Given the description of an element on the screen output the (x, y) to click on. 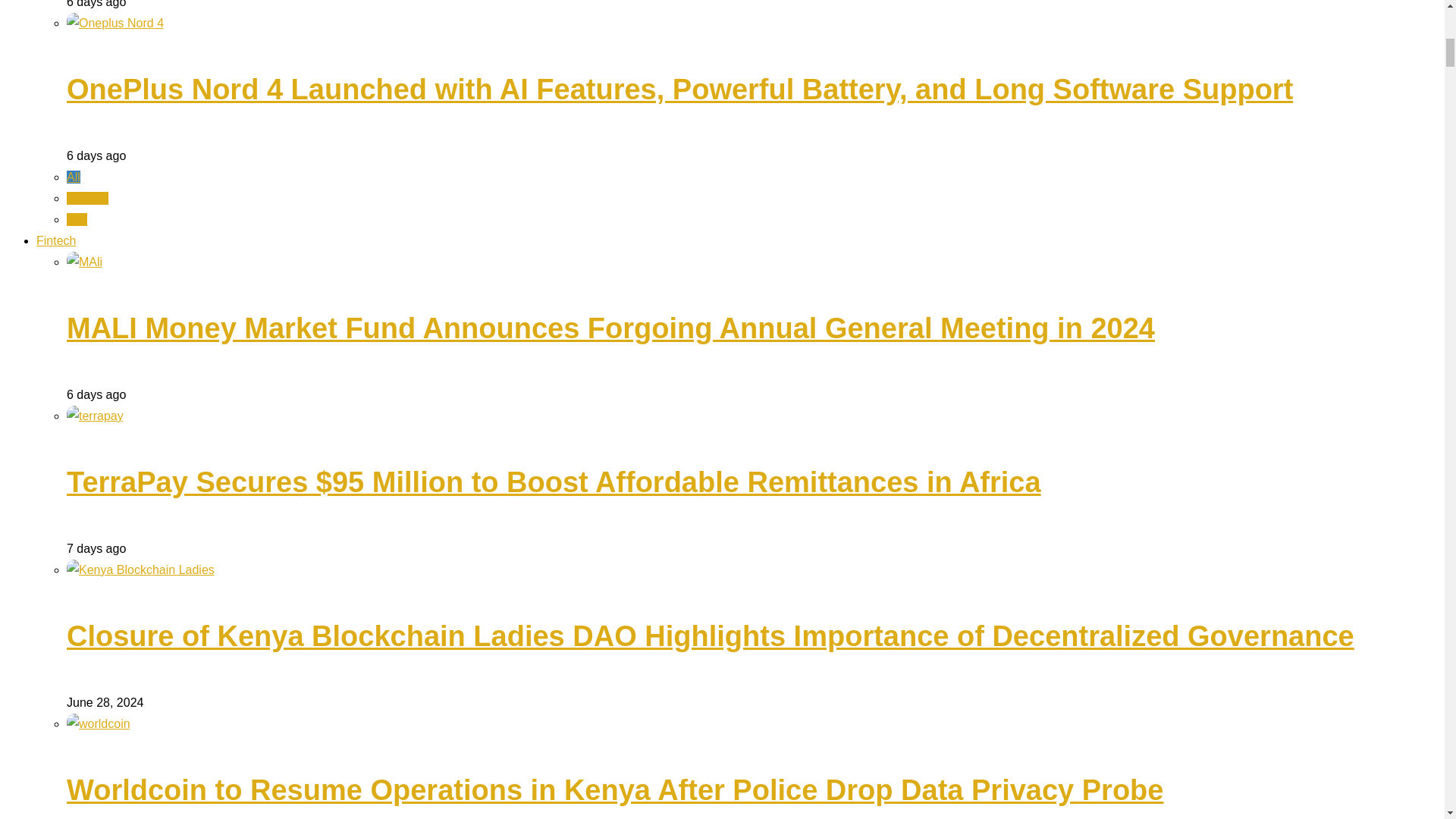
iOS (76, 219)
iOS (76, 219)
July 16, 2024 at 10:28 pm (95, 4)
Android (86, 197)
All (73, 176)
June 28, 2024 at 2:06 pm (104, 702)
July 16, 2024 at 3:08 pm (95, 548)
July 16, 2024 at 10:15 pm (95, 155)
All (73, 176)
Fintech (55, 240)
July 17, 2024 at 3:37 pm (95, 394)
